Given the description of an element on the screen output the (x, y) to click on. 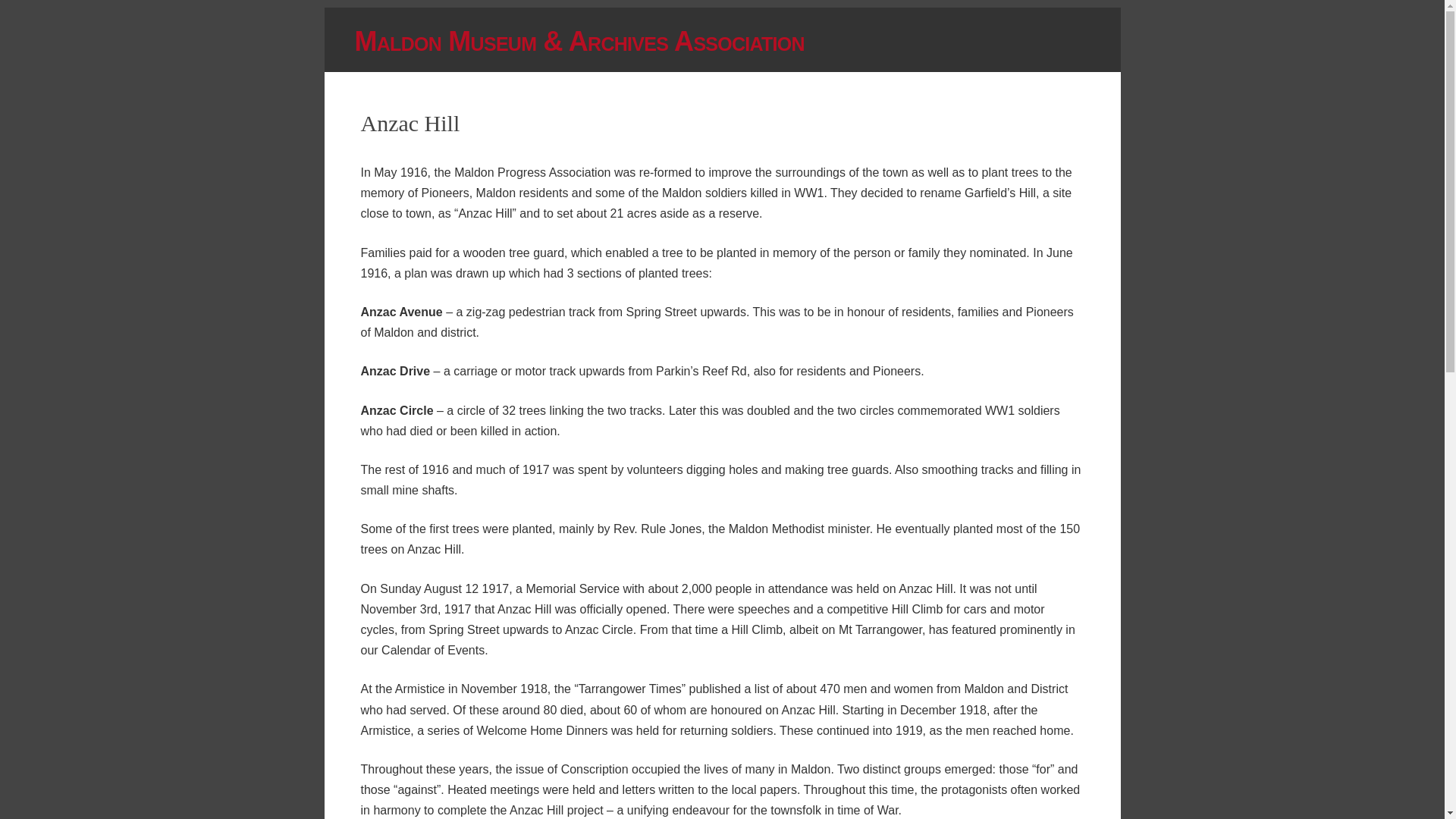
Maldon Museum & Archives Association Element type: text (737, 41)
